Given the description of an element on the screen output the (x, y) to click on. 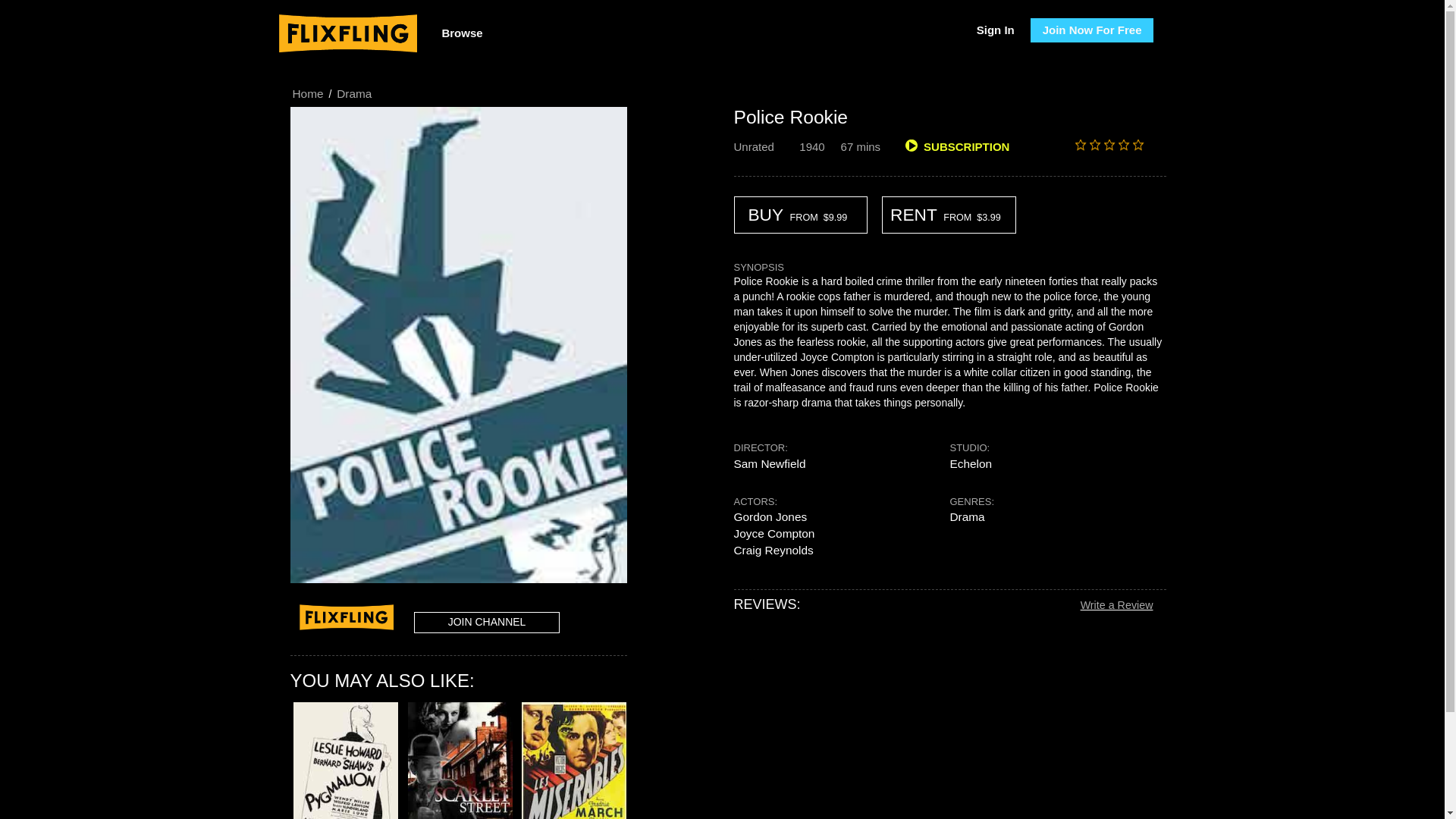
Craig Reynolds (773, 550)
Browse (461, 32)
Sign In (994, 30)
Join Now For Free (1092, 30)
Gordon Jones (770, 516)
Home (306, 94)
Write a Review (1116, 604)
Drama (354, 94)
Sam Newfield (769, 463)
Police Rookie (790, 117)
Joyce Compton (774, 533)
JOIN CHANNEL (486, 622)
Echelon (970, 463)
Drama (966, 516)
